Given the description of an element on the screen output the (x, y) to click on. 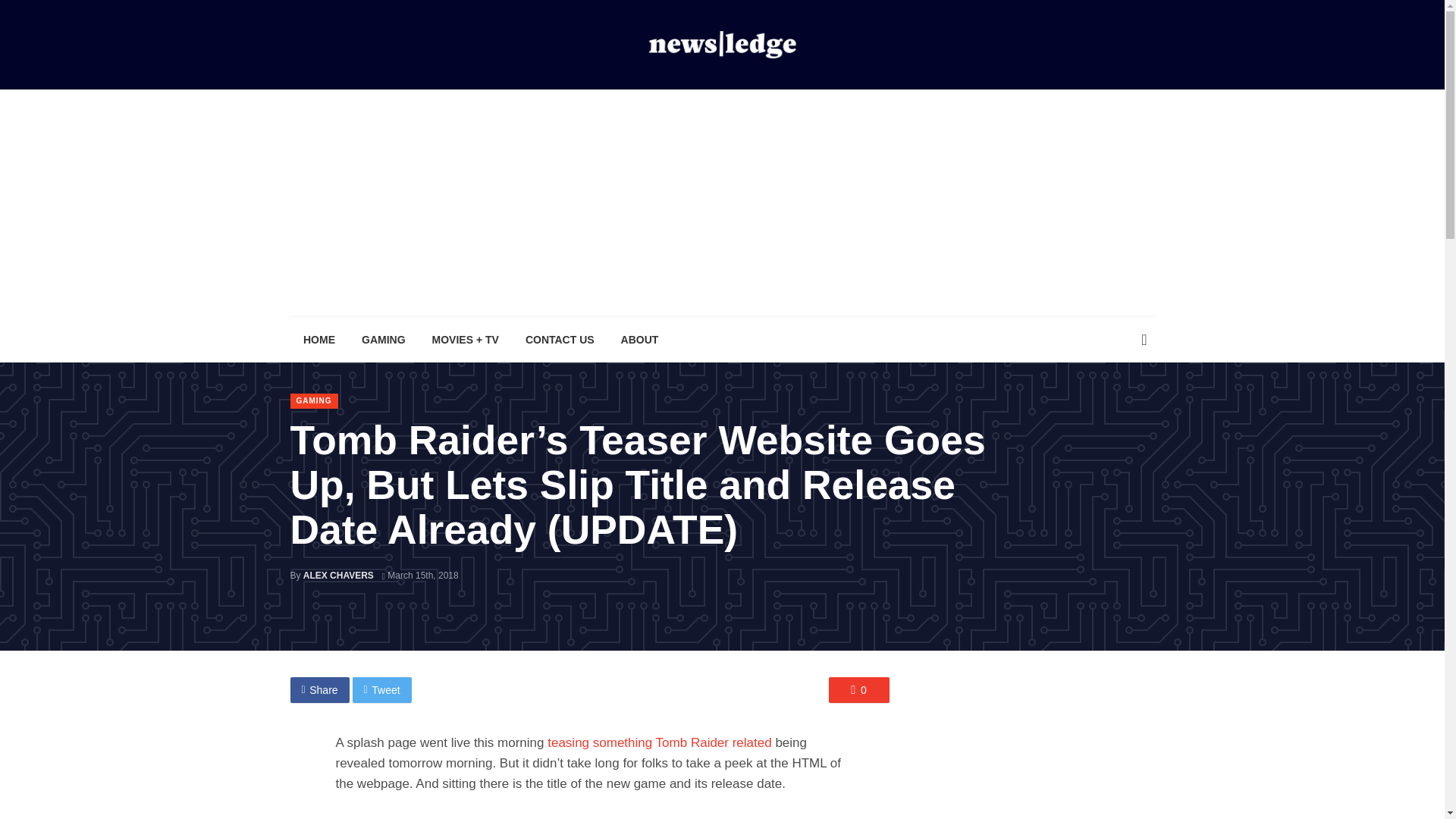
HOME (318, 339)
ALEX CHAVERS (338, 575)
Share on Twitter (382, 689)
Share (319, 689)
Tweet (382, 689)
GAMING (313, 400)
0 (858, 689)
ABOUT (639, 339)
CONTACT US (559, 339)
0 Comments (858, 689)
Share on Facebook (319, 689)
Posts by Alex Chavers (338, 575)
Advertisement (1040, 746)
teasing something Tomb Raider related (659, 742)
